Given the description of an element on the screen output the (x, y) to click on. 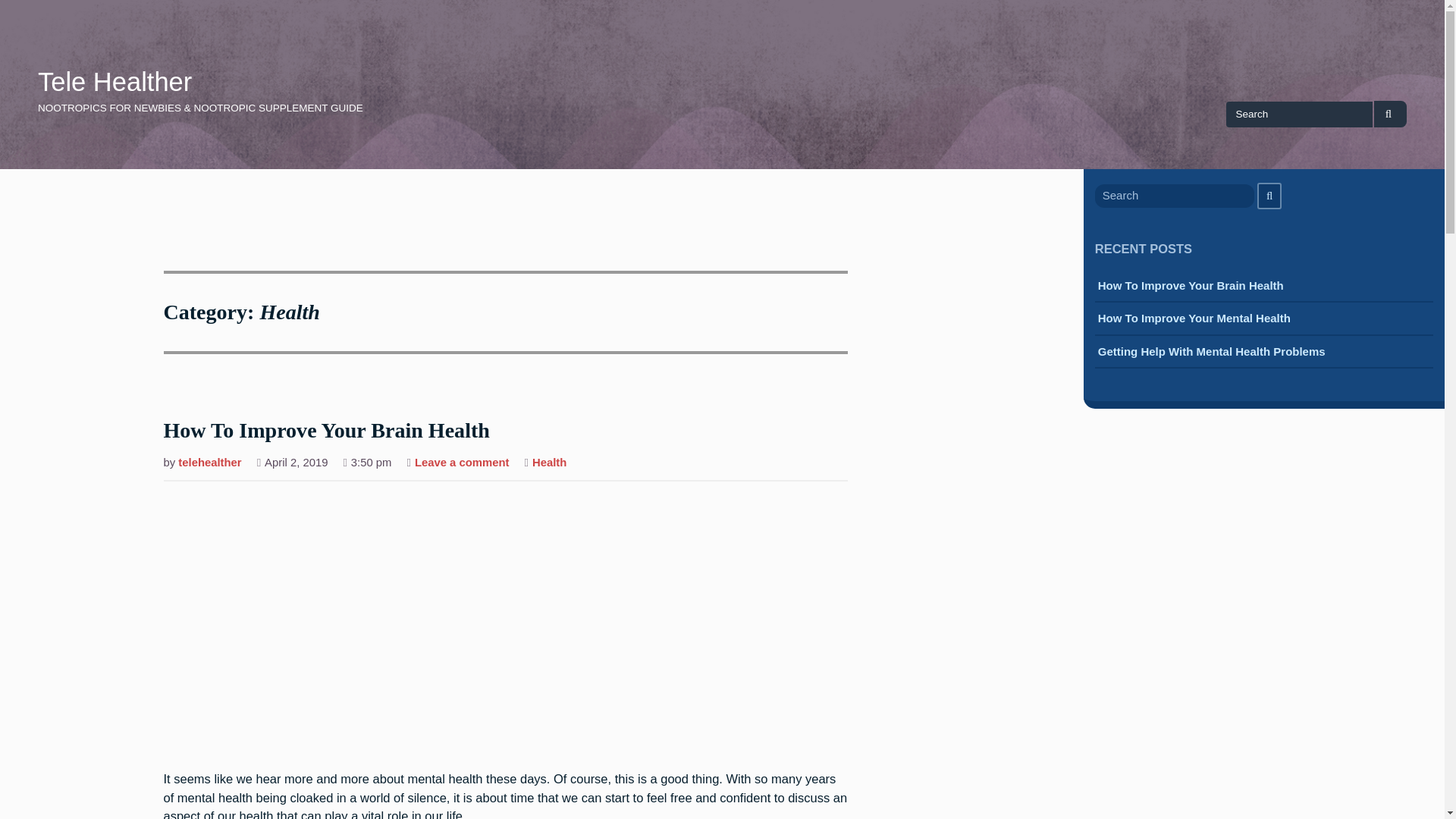
telehealther (209, 463)
Search (1390, 113)
How To Improve Your Brain Health (326, 431)
Tele Healther (114, 81)
Getting Help With Mental Health Problems (1210, 352)
Posts by telehealther (209, 463)
Health (549, 463)
How To Improve Your Brain Health (1190, 286)
How To Improve Your Mental Health (1193, 319)
Search (1269, 195)
